Given the description of an element on the screen output the (x, y) to click on. 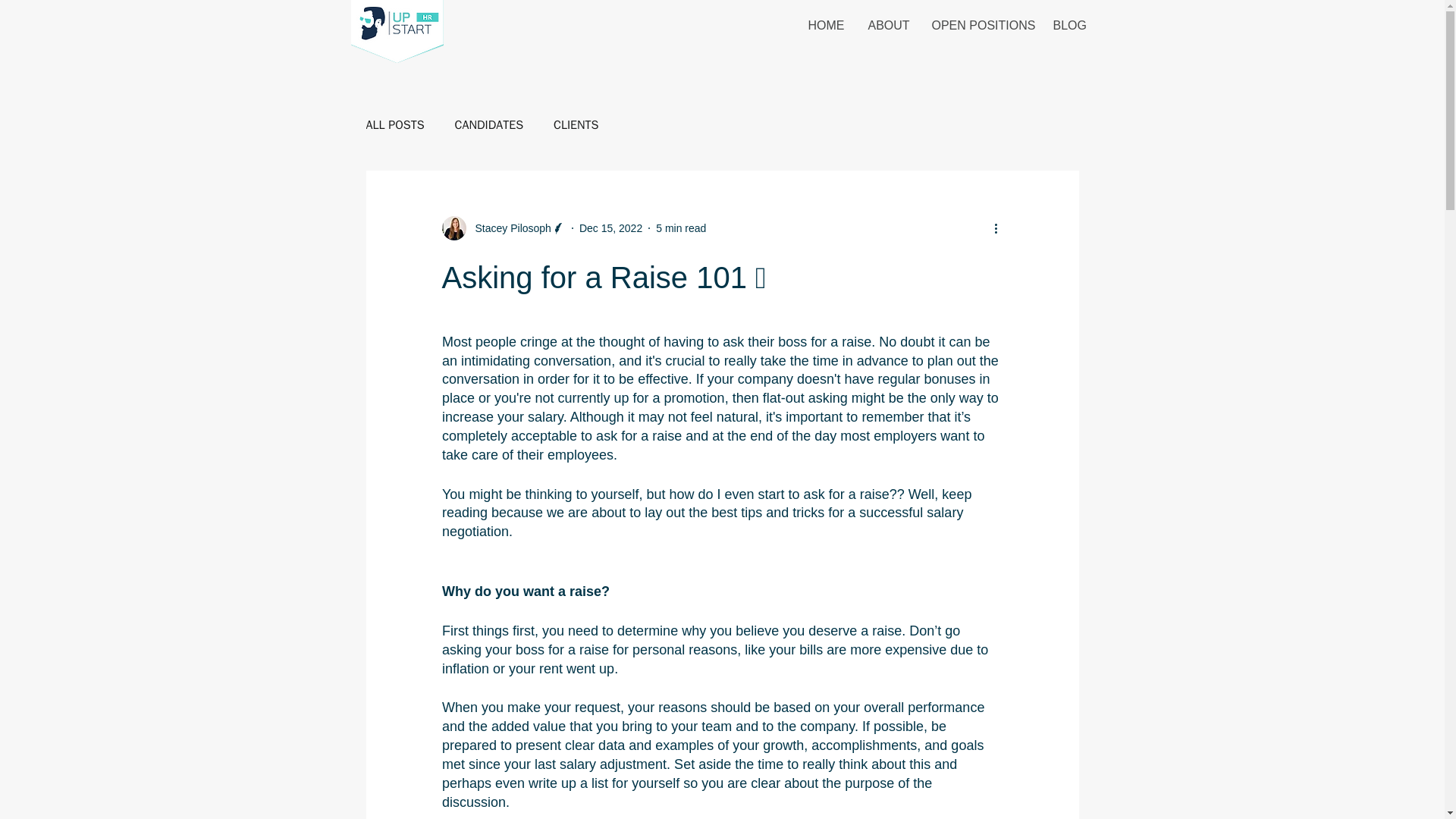
5 min read (681, 227)
HOME (826, 25)
ALL POSTS (394, 124)
Stacey Pilosoph (507, 227)
OPEN POSITIONS (981, 25)
ABOUT (888, 25)
Stacey Pilosoph (502, 228)
CLIENTS (575, 124)
Dec 15, 2022 (610, 227)
BLOG (1069, 25)
